Given the description of an element on the screen output the (x, y) to click on. 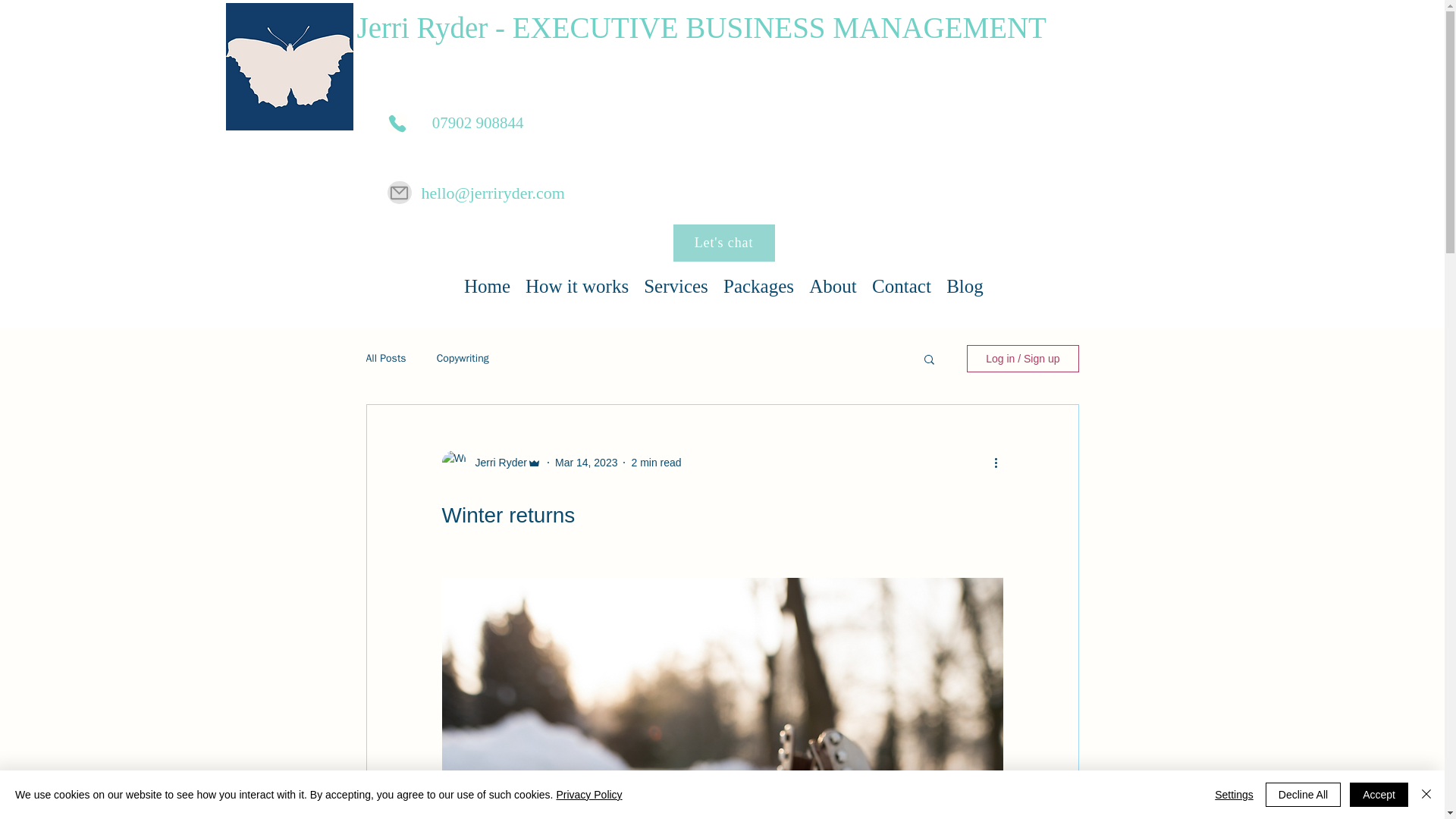
About (833, 281)
Home (487, 281)
2 min read (655, 462)
Copywriting (462, 358)
Let's chat (723, 242)
Packages (759, 281)
Mar 14, 2023 (585, 462)
why a butterfy? why not? (289, 66)
All Posts (385, 358)
Contact (901, 281)
